Given the description of an element on the screen output the (x, y) to click on. 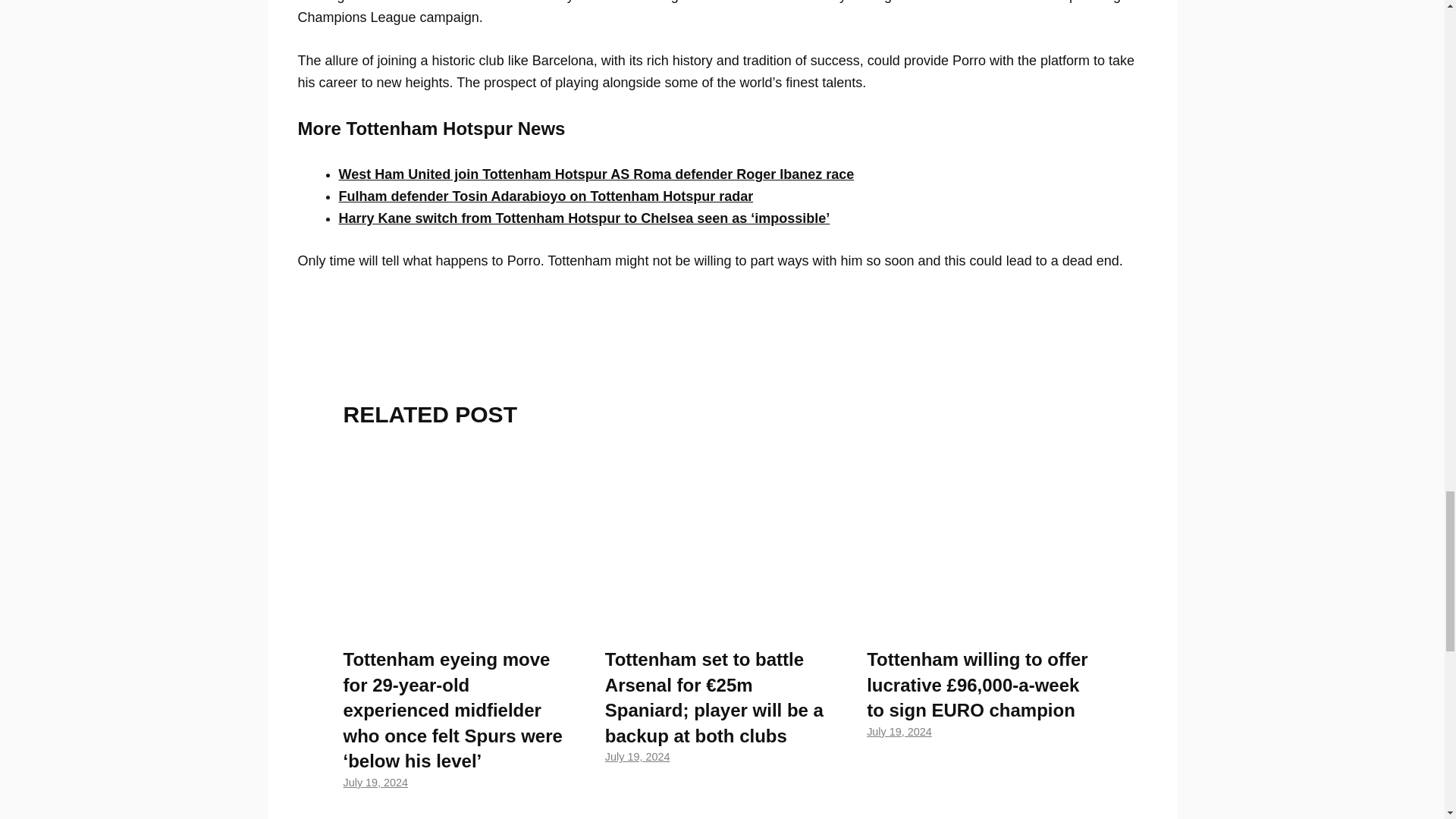
July 19, 2024 (374, 782)
7:00 pm (637, 756)
8:00 pm (374, 782)
Fulham defender Tosin Adarabioyo on Tottenham Hotspur radar (544, 196)
6:00 pm (898, 731)
July 19, 2024 (637, 756)
